Given the description of an element on the screen output the (x, y) to click on. 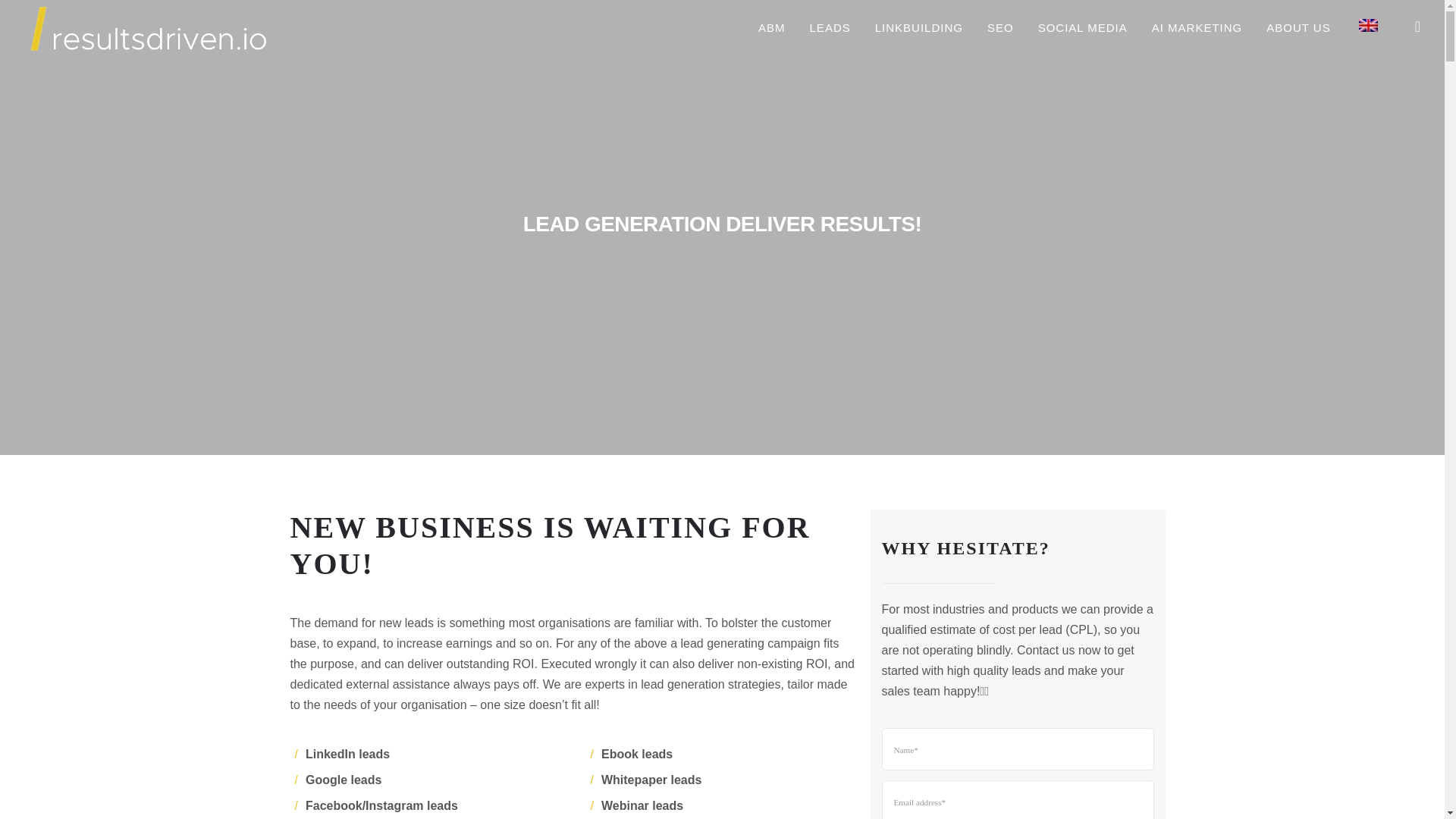
SOCIAL MEDIA (1082, 27)
ABOUT US (1298, 27)
AI MARKETING (1197, 27)
LINKBUILDING (918, 27)
